Given the description of an element on the screen output the (x, y) to click on. 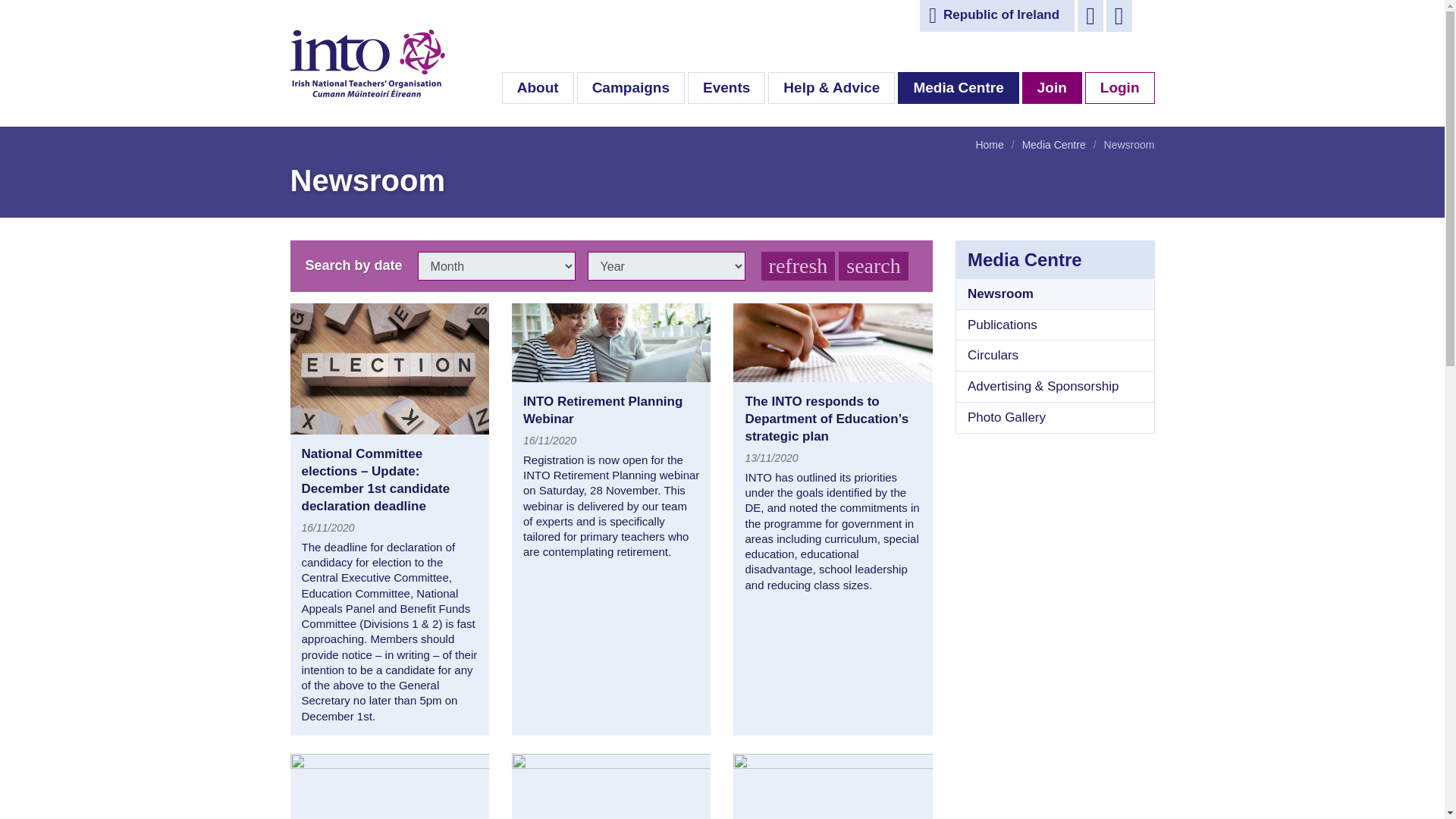
Events (726, 87)
Home (989, 144)
Login (1119, 87)
Media Centre (957, 87)
Go to Media Centre. (1054, 144)
Media Centre (1054, 144)
Campaigns (630, 87)
About (537, 87)
Join (1051, 87)
refresh (798, 265)
INTO Retirement Planning Webinar (602, 409)
search (873, 265)
